Given the description of an element on the screen output the (x, y) to click on. 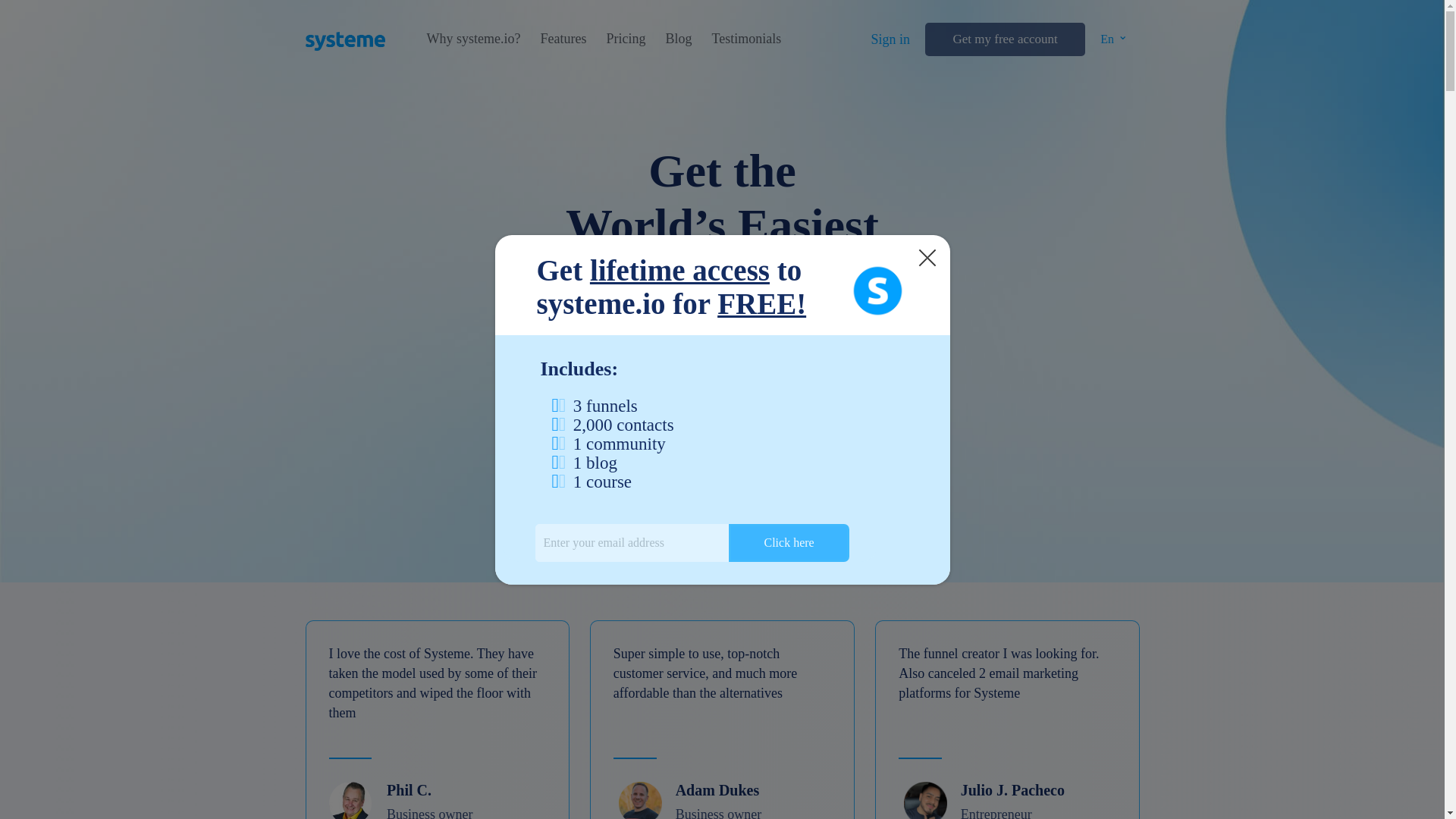
Get my free account (1004, 39)
Testimonials (745, 38)
Blog (678, 38)
Why systeme.io? (472, 38)
Sign in (890, 39)
Pricing (625, 38)
Features (563, 38)
